Given the description of an element on the screen output the (x, y) to click on. 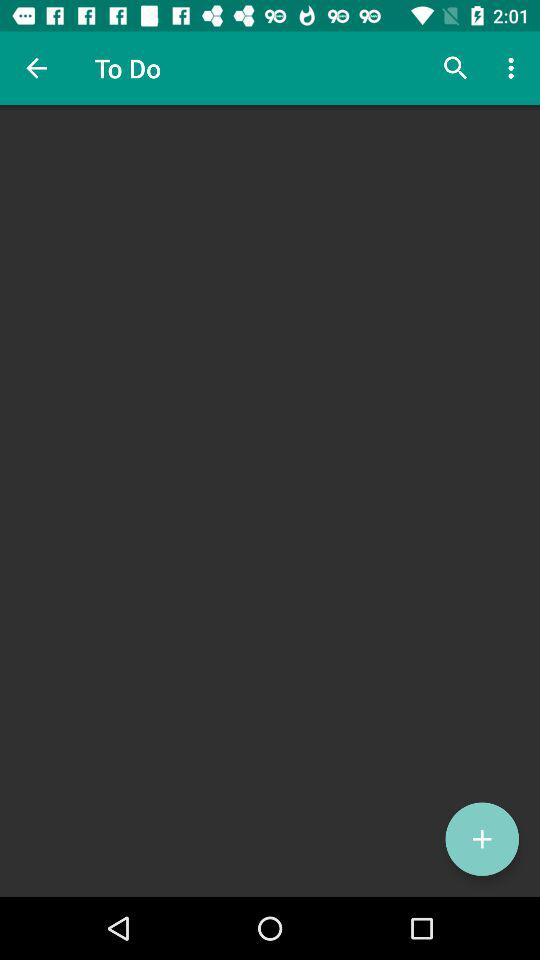
launch the icon next to the to do icon (36, 68)
